Given the description of an element on the screen output the (x, y) to click on. 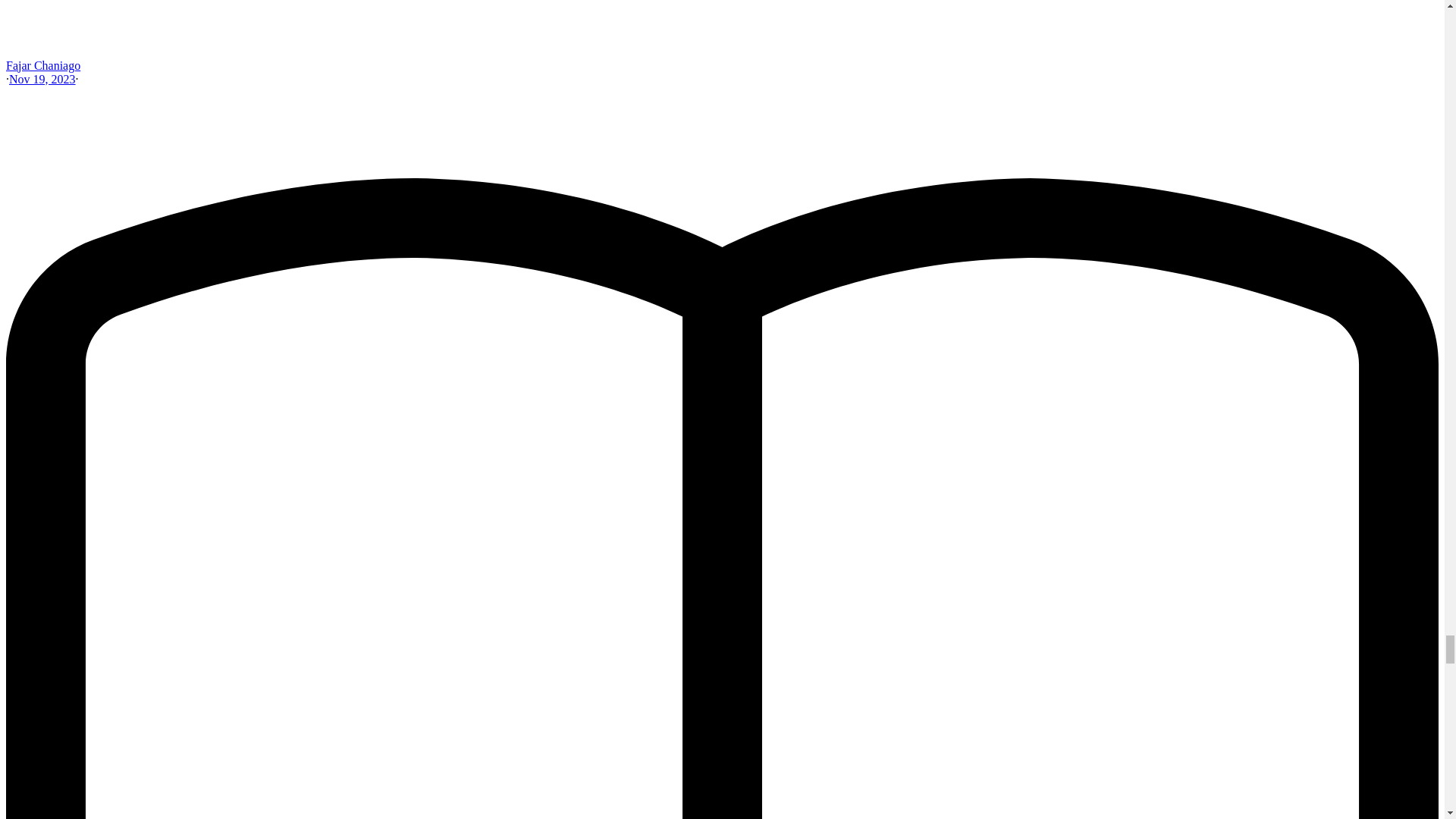
Nov 19, 2023 (41, 78)
Fajar Chaniago (42, 65)
